Given the description of an element on the screen output the (x, y) to click on. 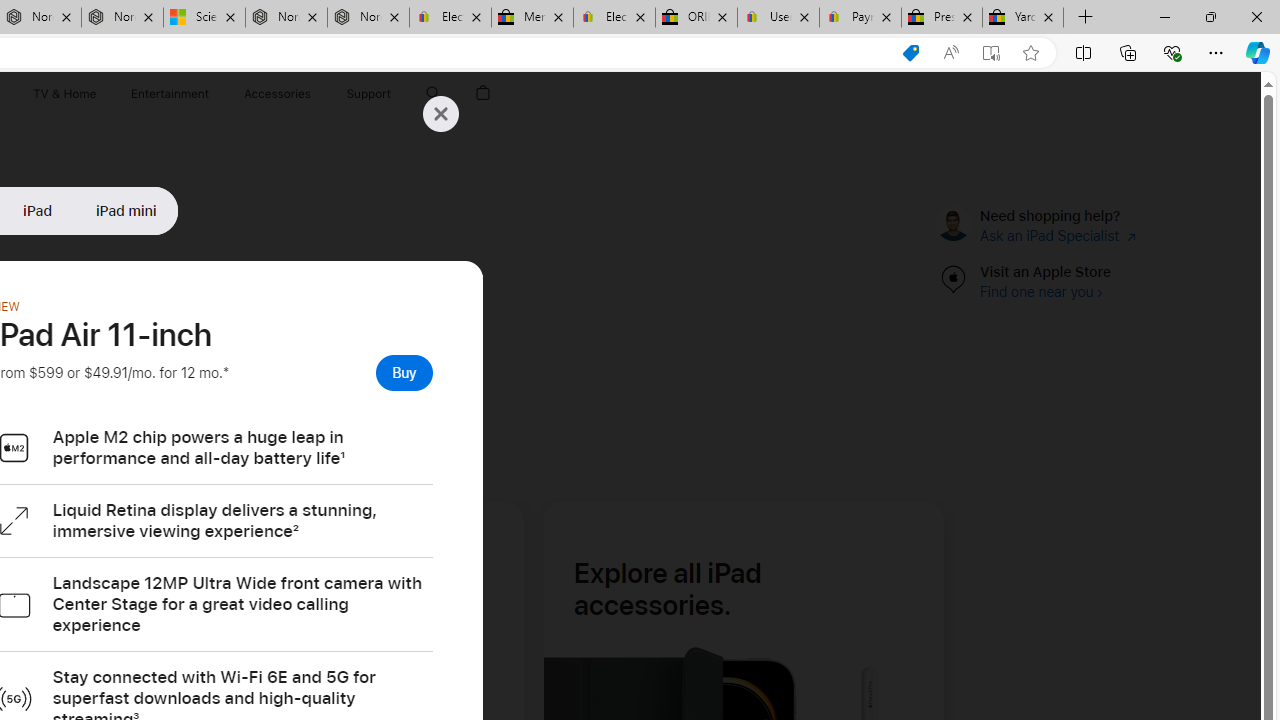
Payments Terms of Use | eBay.com (860, 17)
Nordace - FAQ (368, 17)
Nordace - Summer Adventures 2024 (285, 17)
